Given the description of an element on the screen output the (x, y) to click on. 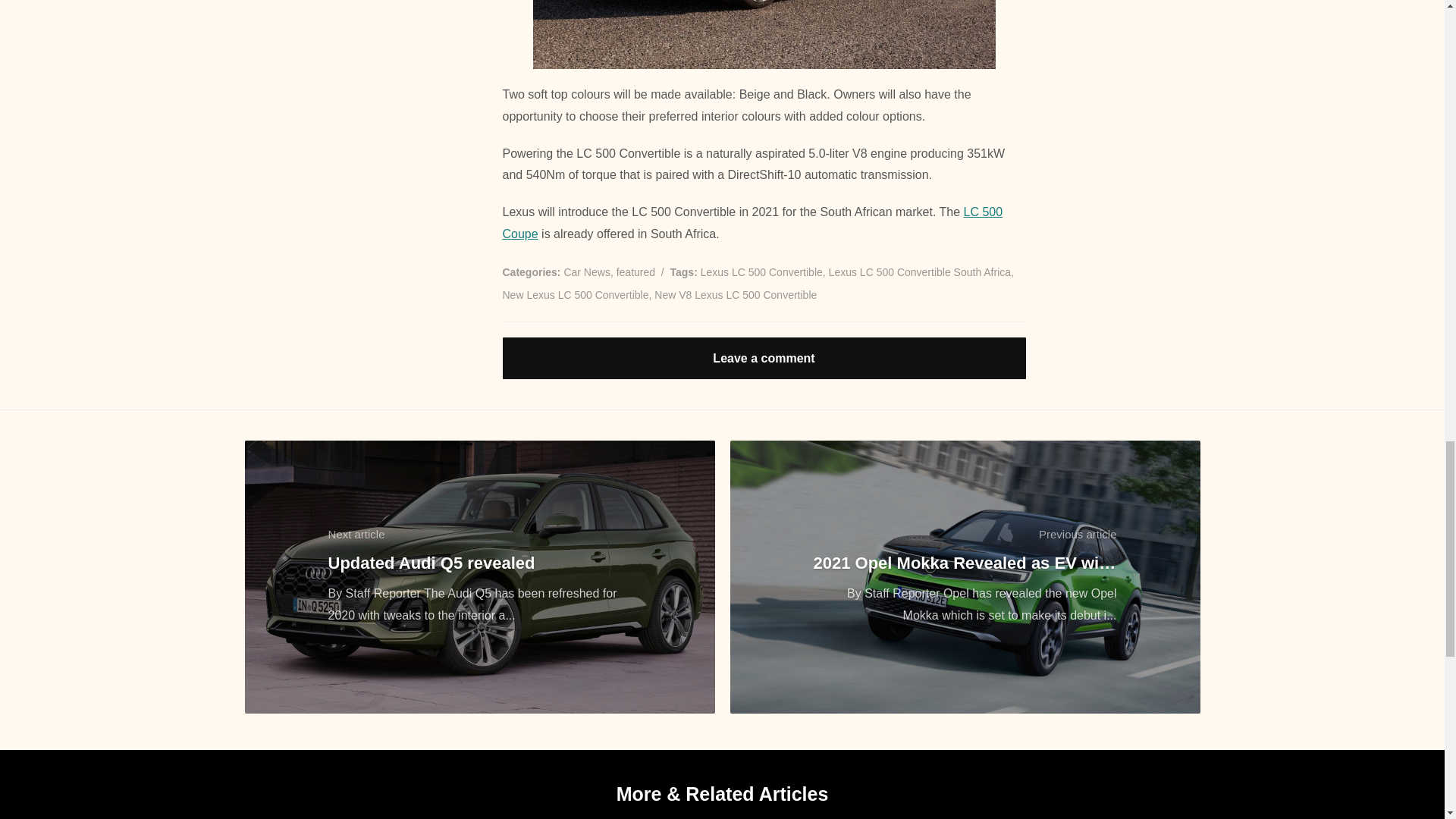
LC 500 Coupe (752, 222)
featured (635, 272)
Car News (586, 272)
